Given the description of an element on the screen output the (x, y) to click on. 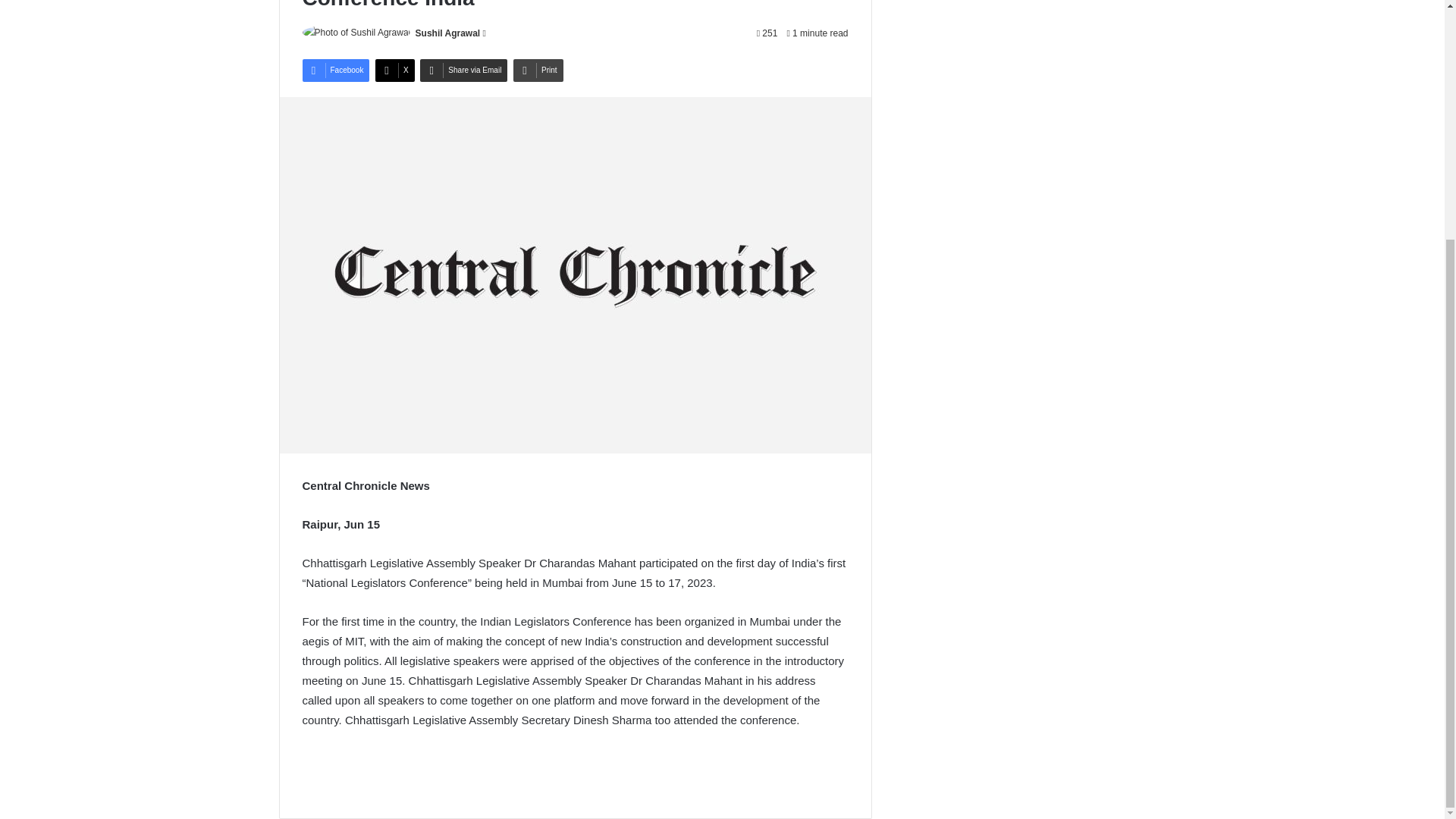
Sushil Agrawal (447, 32)
Print (538, 69)
Share via Email (463, 69)
X (394, 69)
Facebook (335, 69)
